Given the description of an element on the screen output the (x, y) to click on. 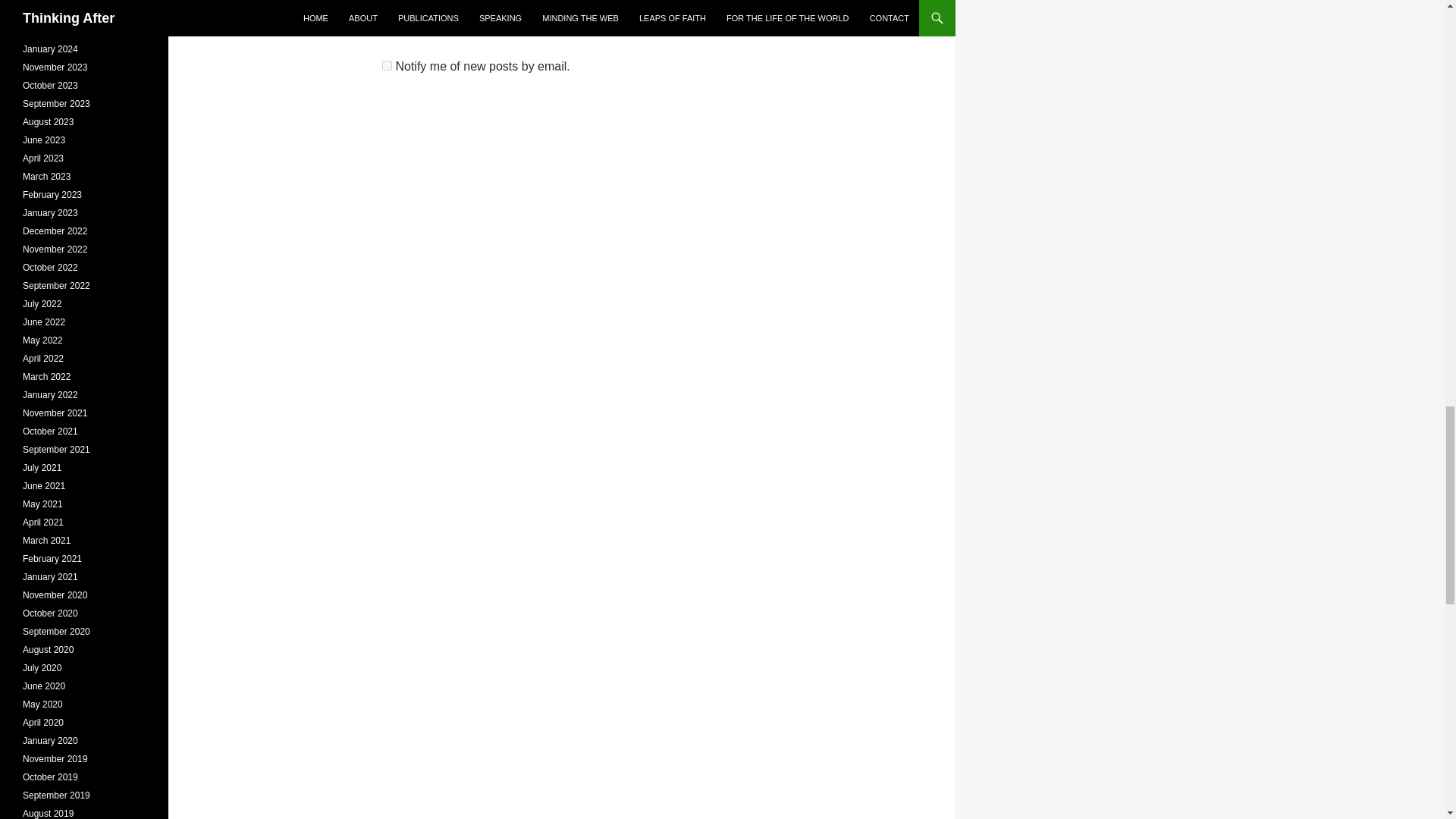
subscribe (386, 29)
subscribe (386, 65)
Post Comment (441, 1)
Post Comment (441, 1)
